Given the description of an element on the screen output the (x, y) to click on. 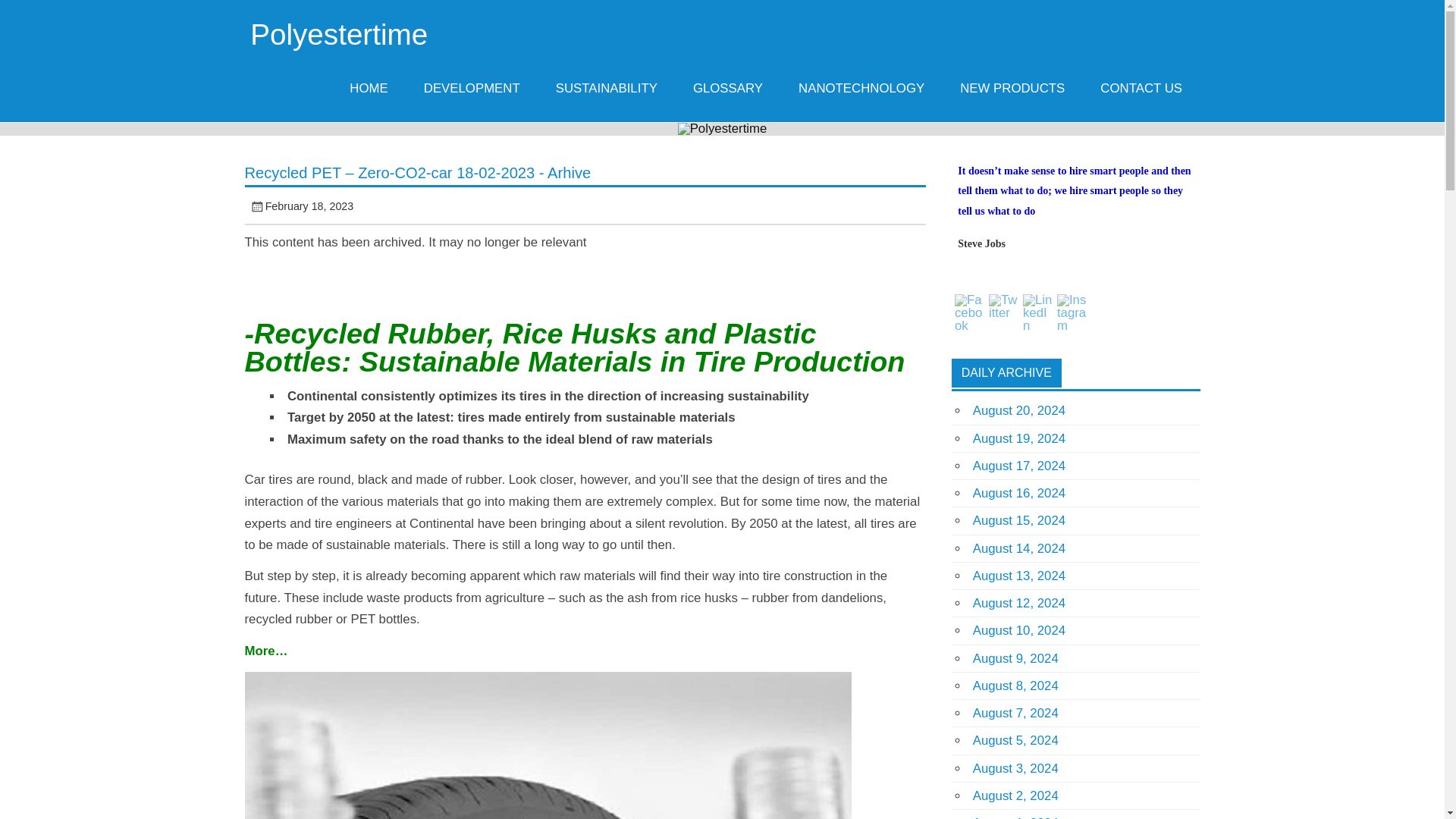
CONTACT US (1141, 88)
August 19, 2024 (1018, 438)
August 8, 2024 (1015, 685)
August 13, 2024 (1018, 575)
DEVELOPMENT (471, 88)
GLOSSARY (727, 88)
August 9, 2024 (1015, 658)
August 20, 2024 (1018, 410)
August 10, 2024 (1018, 630)
